Given the description of an element on the screen output the (x, y) to click on. 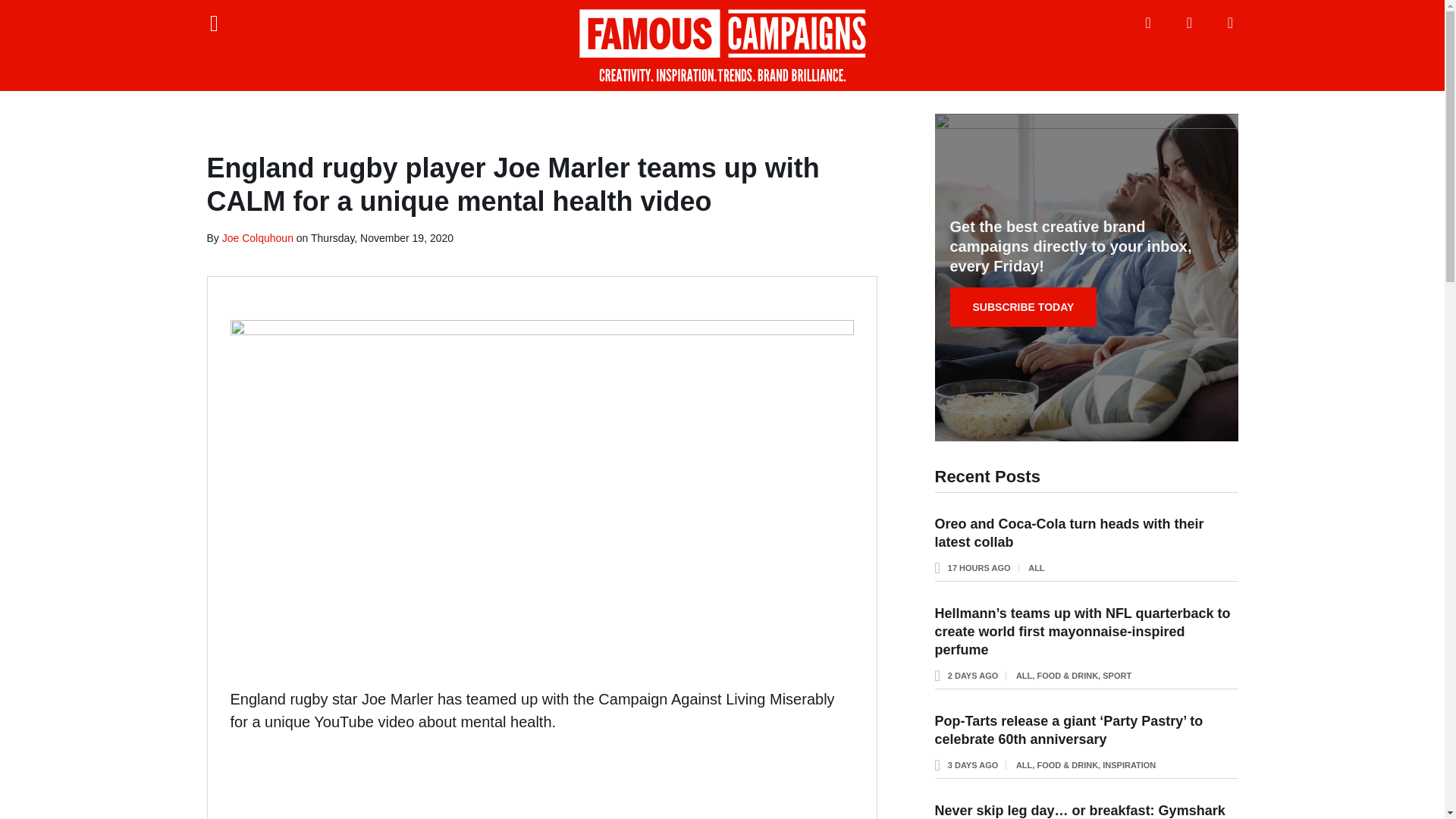
Joe Colquhoun (258, 237)
Posts by Joe Colquhoun (258, 237)
Oreo and Coca-Cola turn heads with their latest collab (1069, 532)
Famous Campaigns (722, 45)
